Given the description of an element on the screen output the (x, y) to click on. 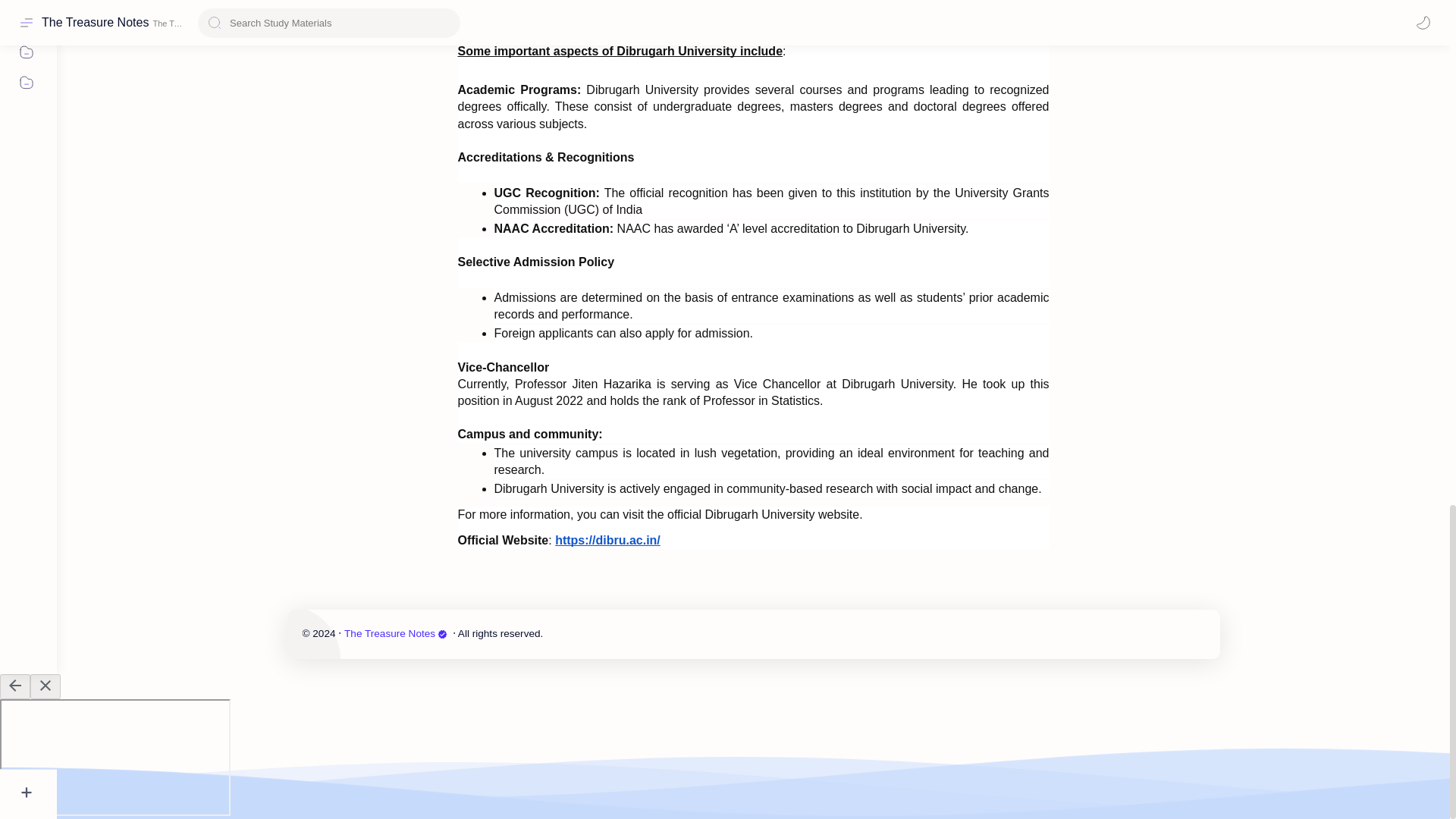
The Treasure Notes (396, 633)
